Given the description of an element on the screen output the (x, y) to click on. 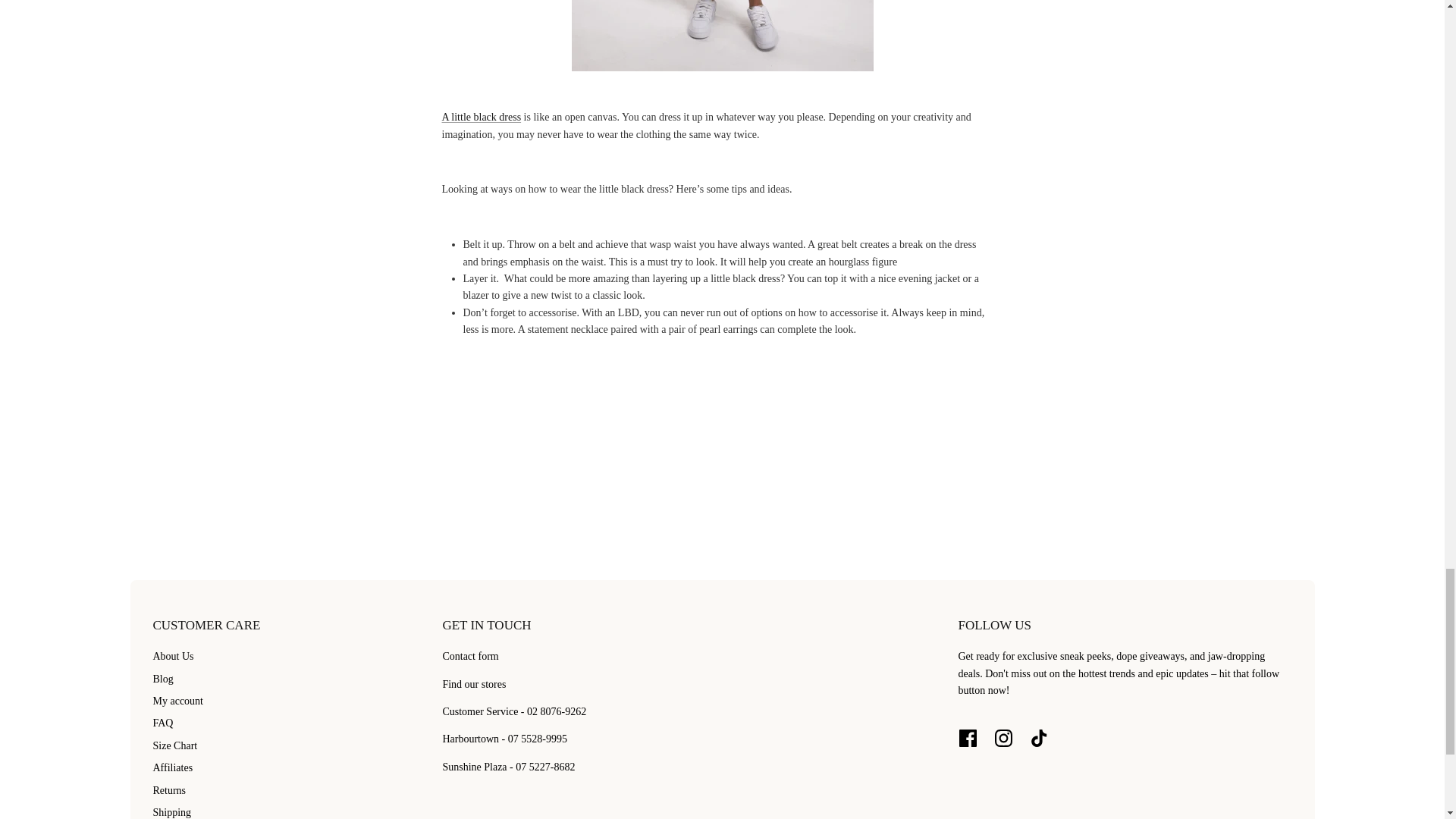
tel:0752278682 (508, 767)
Find our stores (473, 684)
Facebook (967, 737)
Contact (469, 655)
Instagram (1002, 737)
tel:0755289995 (504, 738)
tel:0280769262 (514, 711)
